Given the description of an element on the screen output the (x, y) to click on. 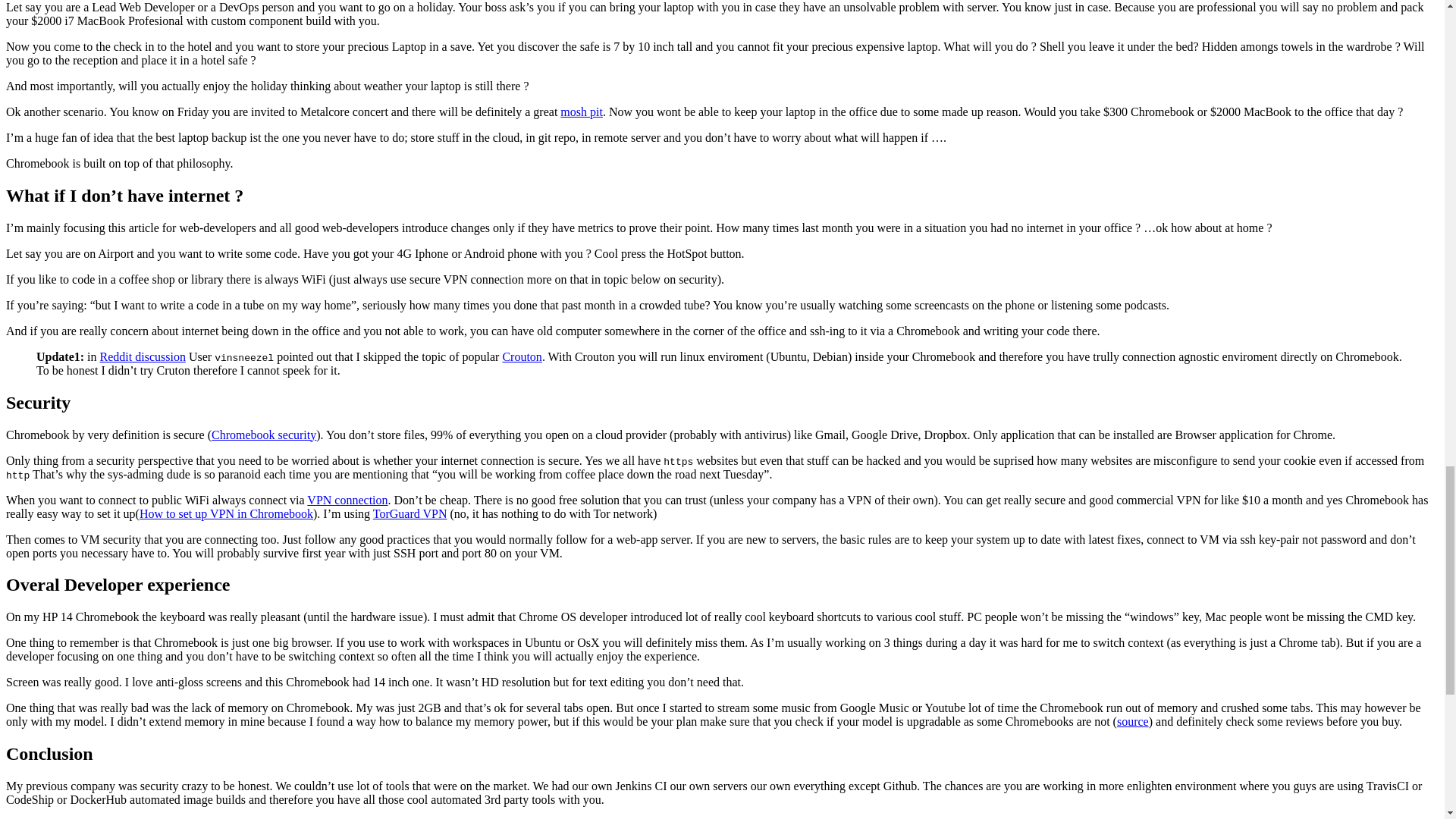
source (1132, 721)
Chromebook security (263, 433)
mosh pit (581, 111)
TorGuard VPN (409, 512)
Crouton (521, 356)
How to set up VPN in Chromebook (226, 512)
VPN connection (347, 499)
Reddit discussion (143, 356)
